Given the description of an element on the screen output the (x, y) to click on. 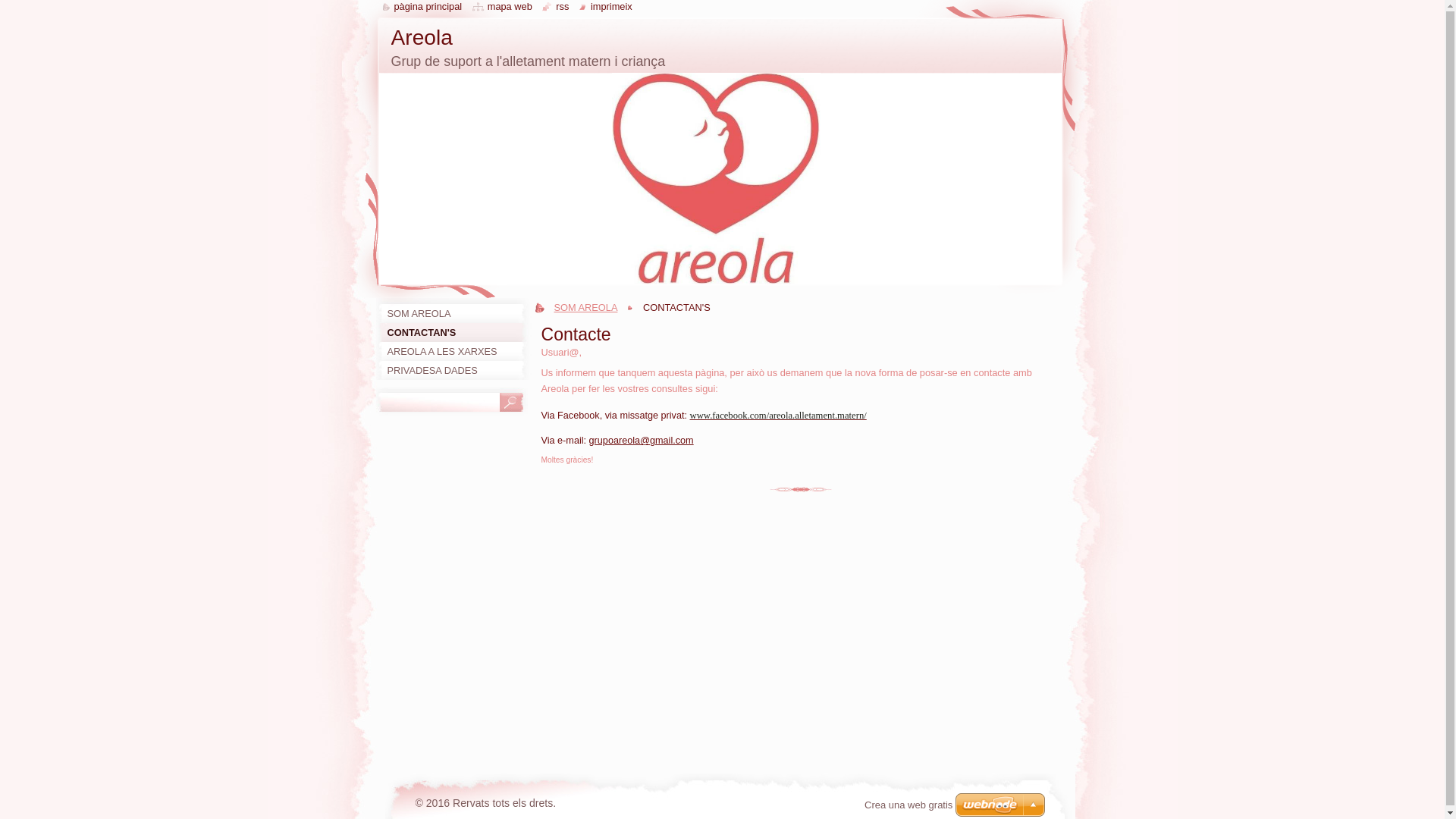
grupoareola@gmail.com Element type: text (641, 440)
CONTACTAN'S Element type: text (453, 332)
mapa web Element type: text (502, 6)
Crea una web gratis Element type: text (908, 804)
imprimeix Element type: text (605, 6)
www.facebook.com/areola.alletament.matern/ Element type: text (778, 415)
PRIVADESA DADES Element type: text (453, 369)
SOM AREOLA Element type: text (589, 307)
Areola Element type: text (421, 37)
AREOLA A LES XARXES Element type: text (453, 351)
SOM AREOLA Element type: text (453, 313)
rss Element type: text (555, 6)
